Given the description of an element on the screen output the (x, y) to click on. 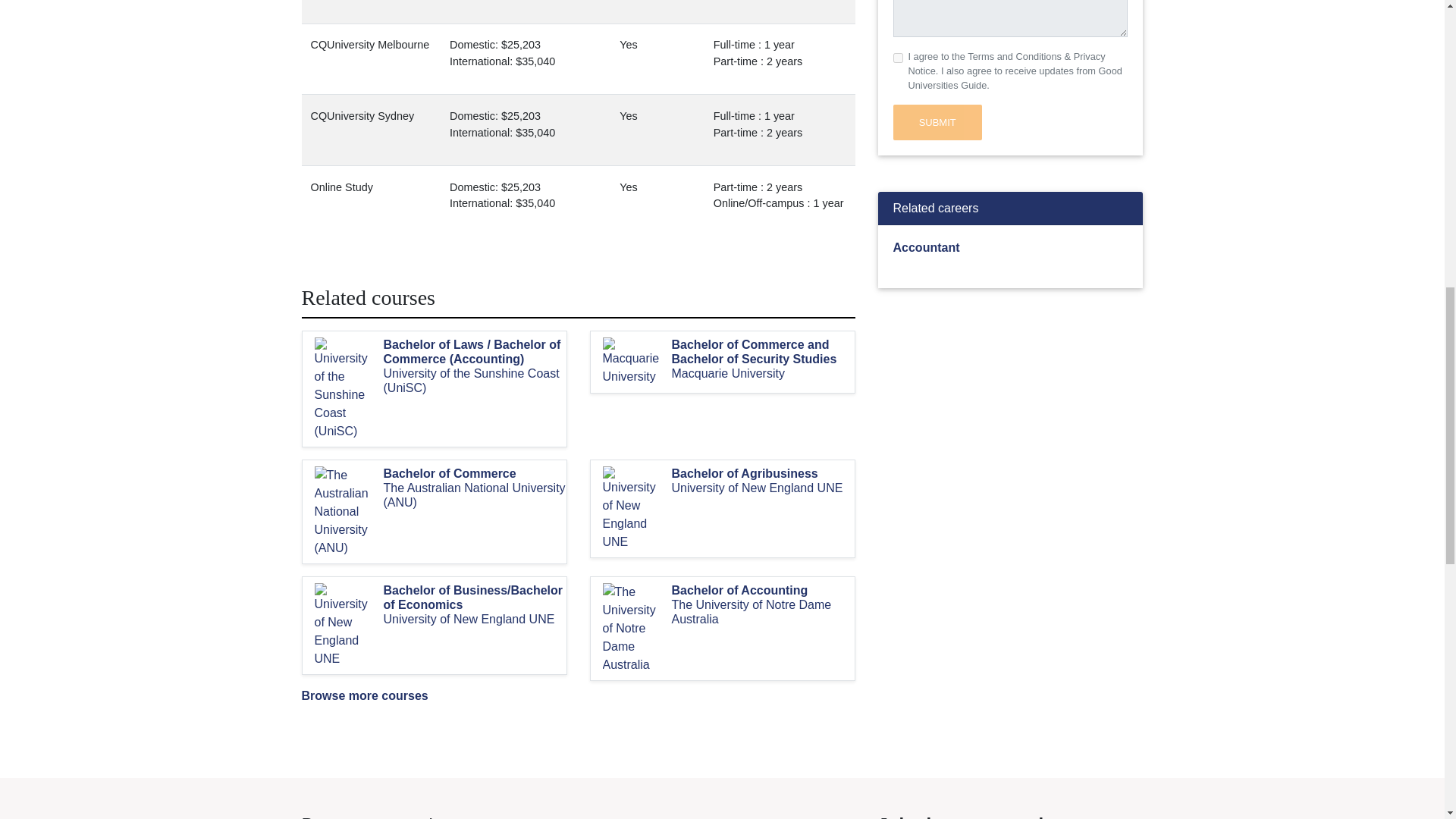
Bachelor of Accounting (762, 590)
yes (897, 58)
Browse more courses (364, 695)
University of New England UNE (475, 618)
The University of Notre Dame Australia (762, 611)
Bachelor of Commerce and Bachelor of Security Studies (762, 351)
Macquarie University (762, 373)
University of New England UNE (762, 487)
Bachelor of Agribusiness (762, 473)
Bachelor of Commerce (475, 473)
